Given the description of an element on the screen output the (x, y) to click on. 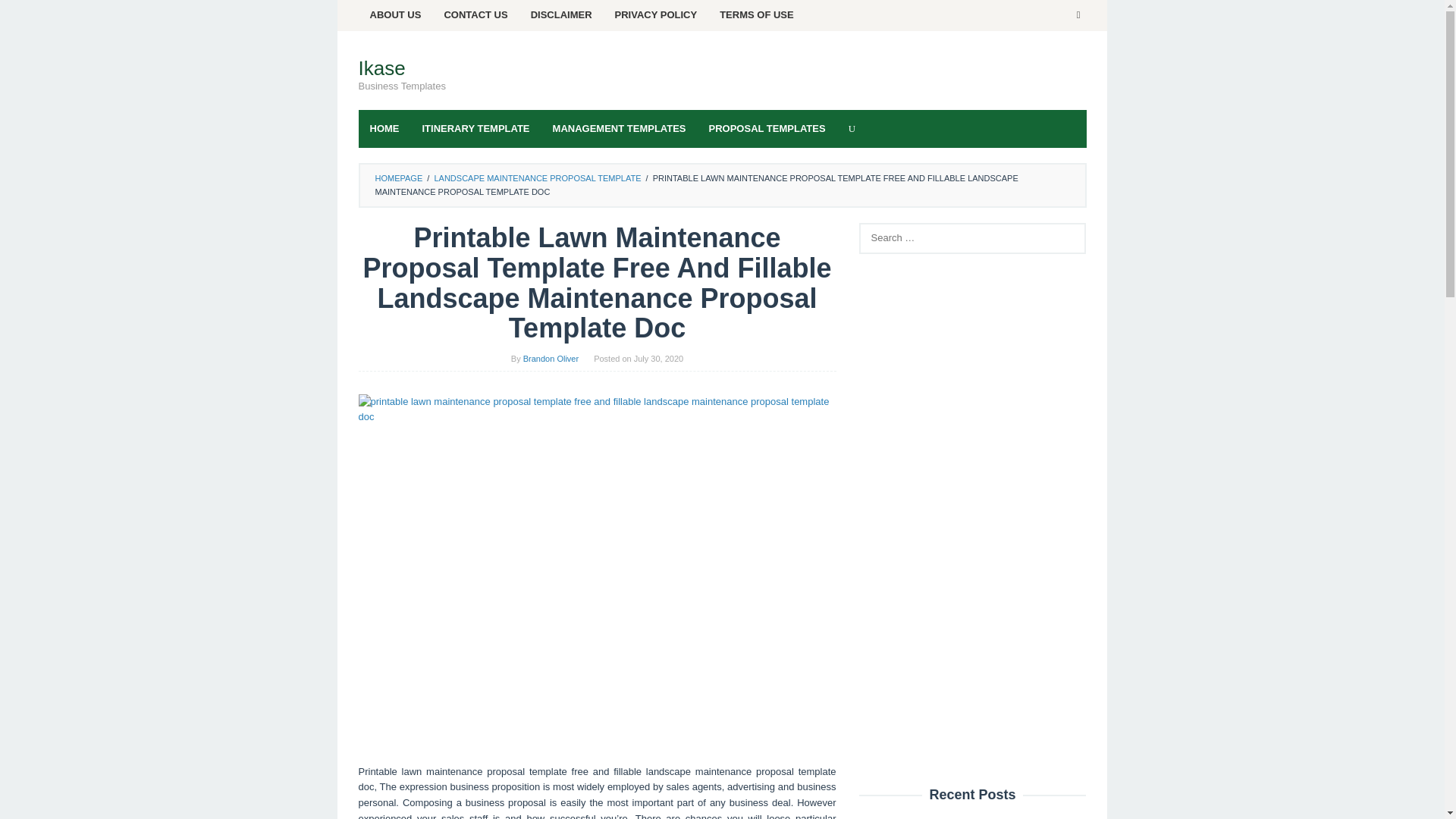
Ikase (381, 67)
Ikase (381, 67)
PRIVACY POLICY (656, 15)
PROPOSAL TEMPLATES (767, 128)
HOME (384, 128)
ABOUT US (395, 15)
TERMS OF USE (756, 15)
Permalink to: Brandon Oliver (550, 358)
DISCLAIMER (561, 15)
HOMEPAGE (398, 177)
MANAGEMENT TEMPLATES (619, 128)
CONTACT US (475, 15)
Brandon Oliver (550, 358)
ITINERARY TEMPLATE (475, 128)
